Given the description of an element on the screen output the (x, y) to click on. 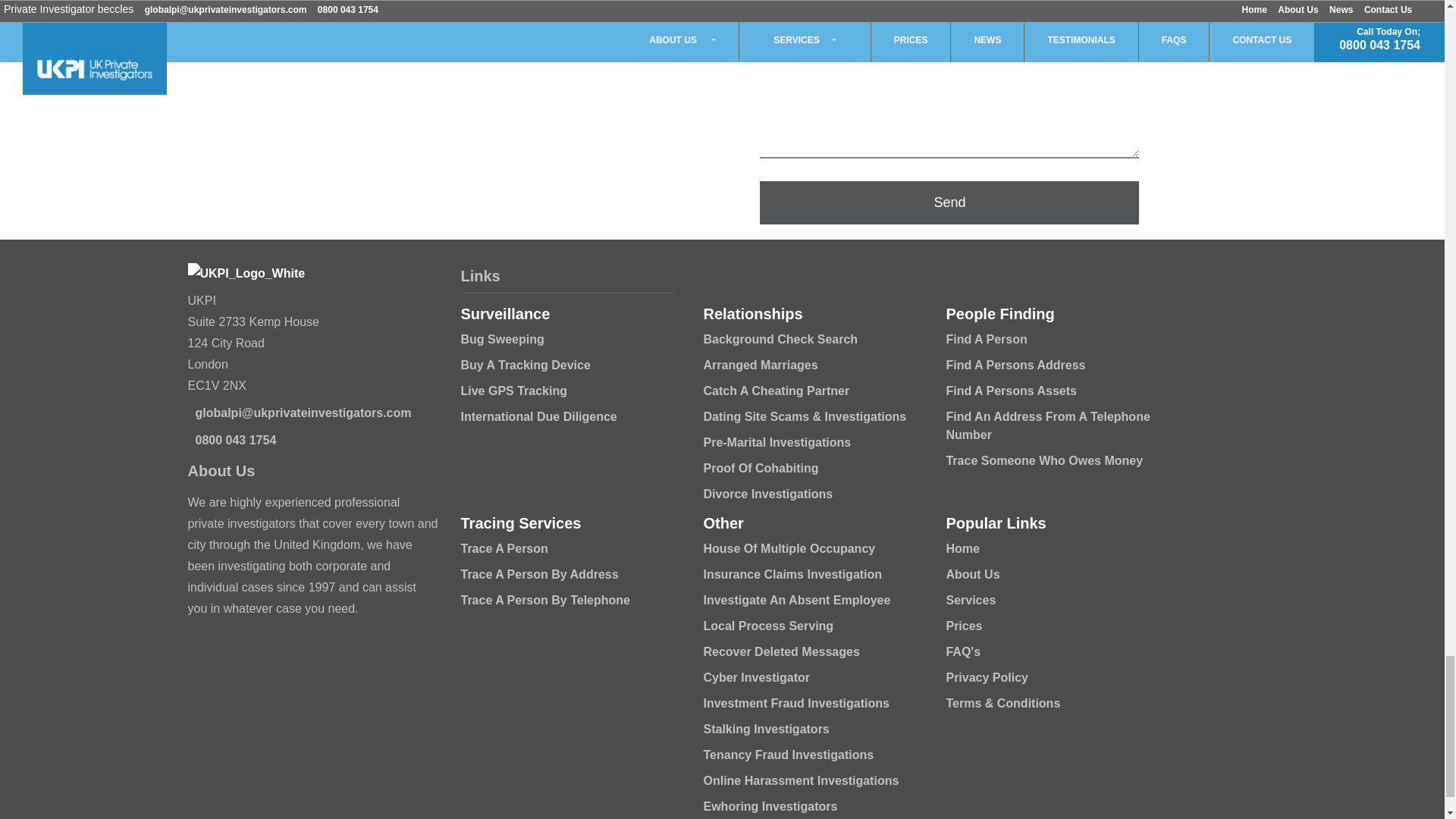
Send (949, 202)
